Given the description of an element on the screen output the (x, y) to click on. 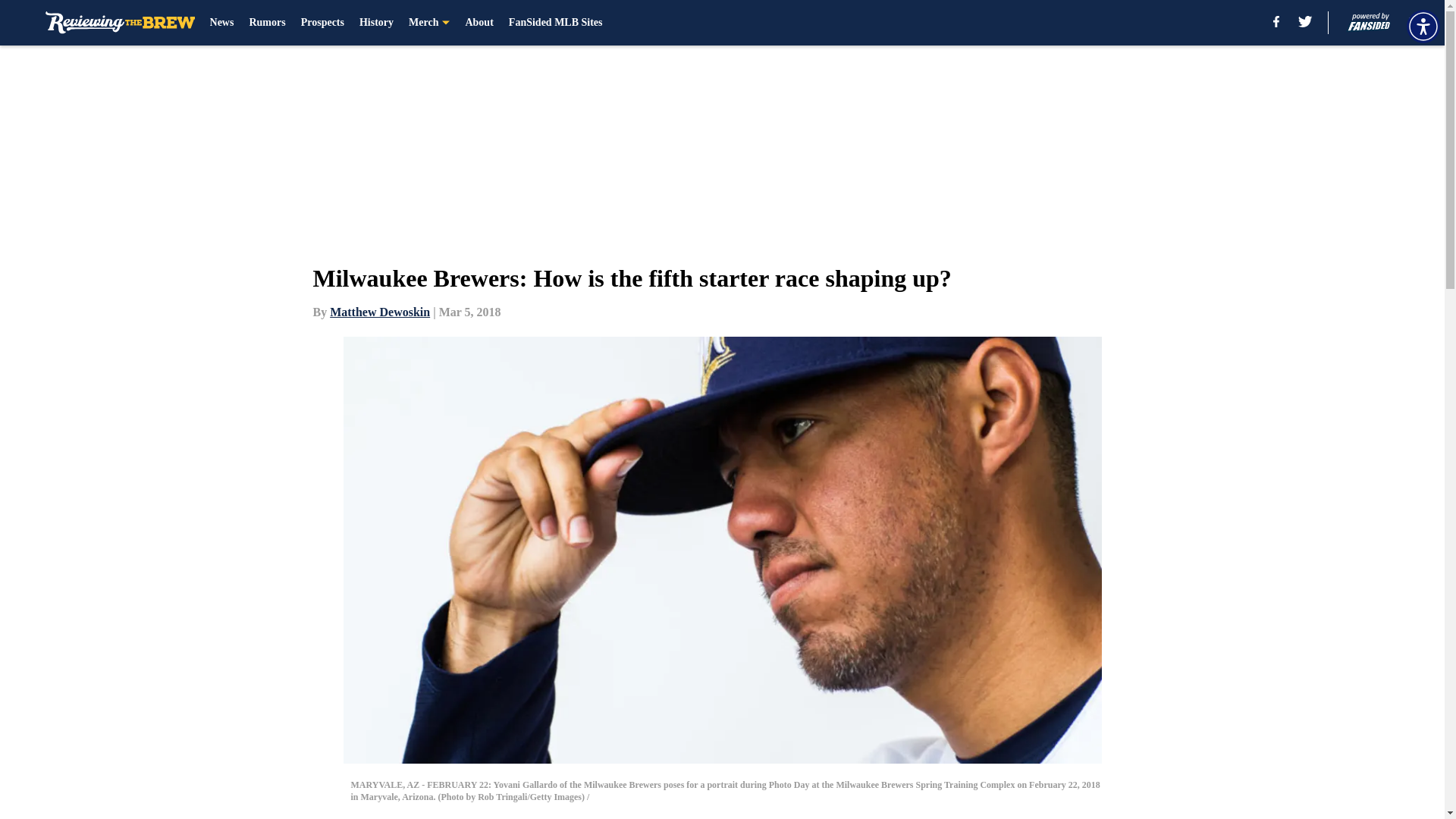
Accessibility Menu (1422, 26)
Prospects (322, 22)
FanSided MLB Sites (555, 22)
Rumors (266, 22)
Matthew Dewoskin (379, 311)
About (478, 22)
News (221, 22)
History (376, 22)
